Given the description of an element on the screen output the (x, y) to click on. 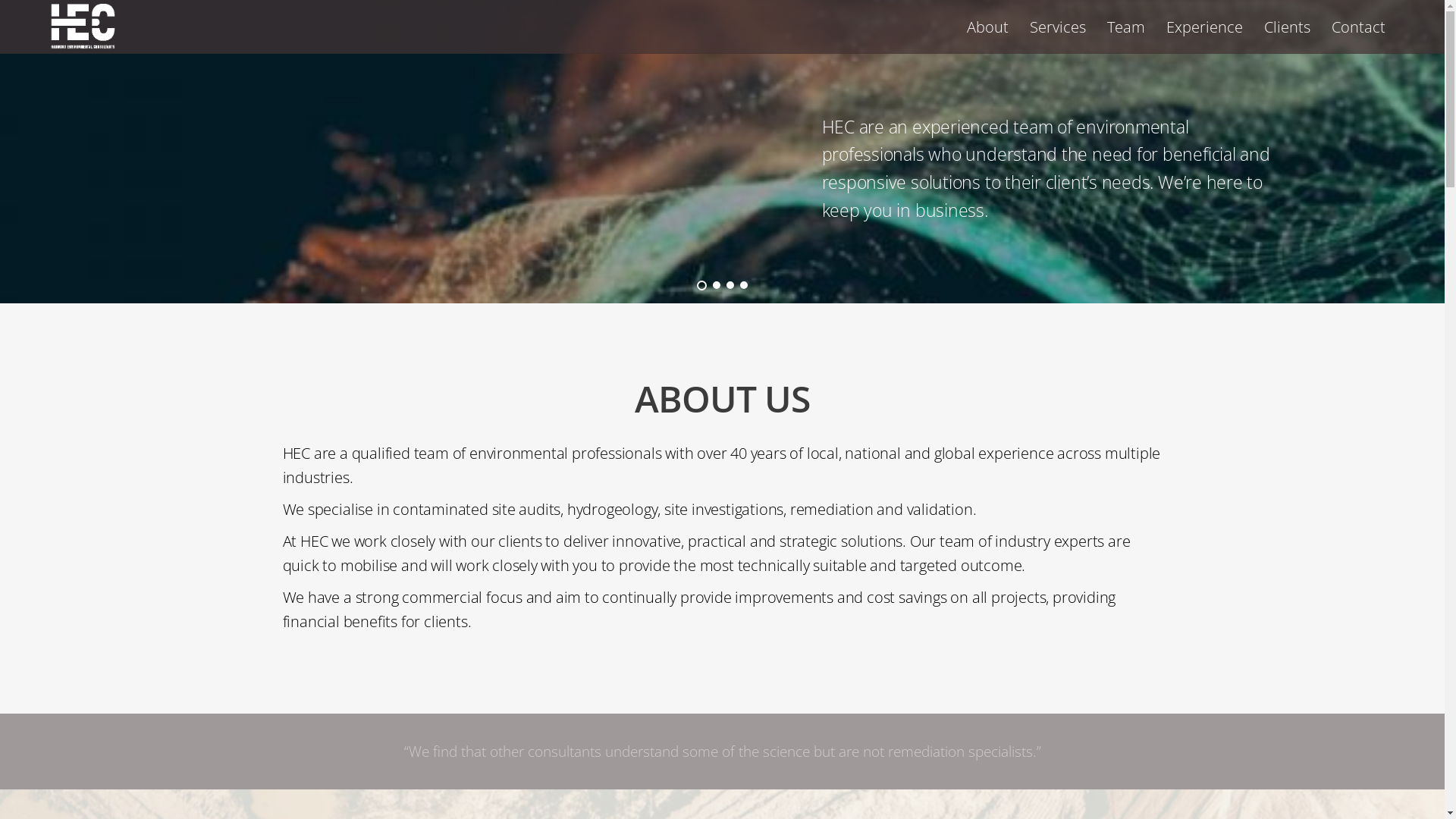
Contact Element type: text (1358, 27)
About Element type: text (987, 27)
Harwood Environmental Consultants Element type: hover (82, 40)
Team Element type: text (1126, 27)
Services Element type: text (1057, 27)
Experience Element type: text (1204, 27)
HEC-white-logo Element type: hover (82, 26)
Clients Element type: text (1287, 27)
